Given the description of an element on the screen output the (x, y) to click on. 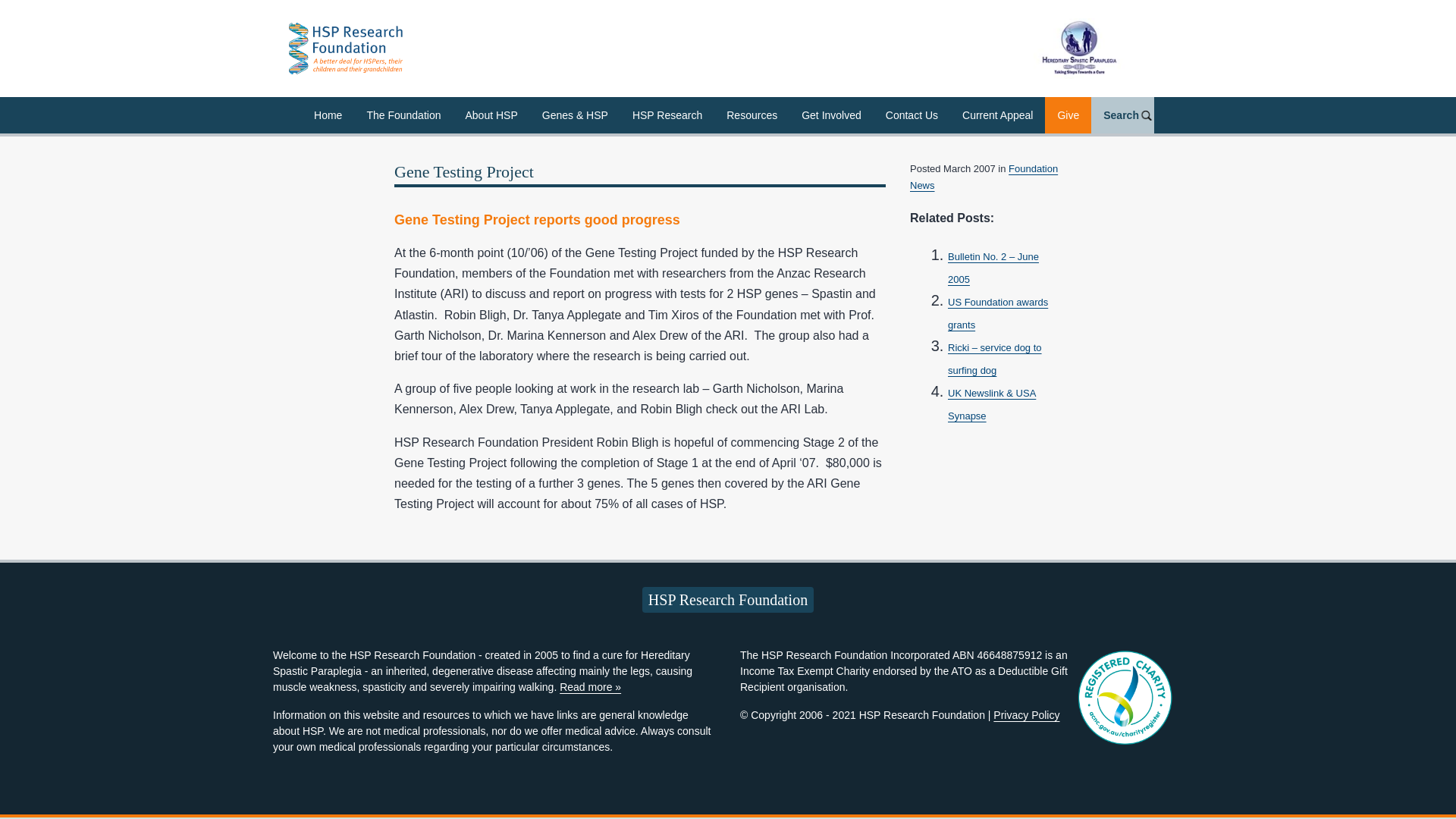
Resources (751, 115)
Contact Us (911, 115)
Get Involved (831, 115)
US Foundation awards grants (997, 313)
About HSP (490, 115)
Foundation News (984, 176)
Current Appeal (997, 115)
HSP Research (667, 115)
Home (327, 115)
Give (1067, 115)
The Foundation (402, 115)
Search (1122, 115)
